Given the description of an element on the screen output the (x, y) to click on. 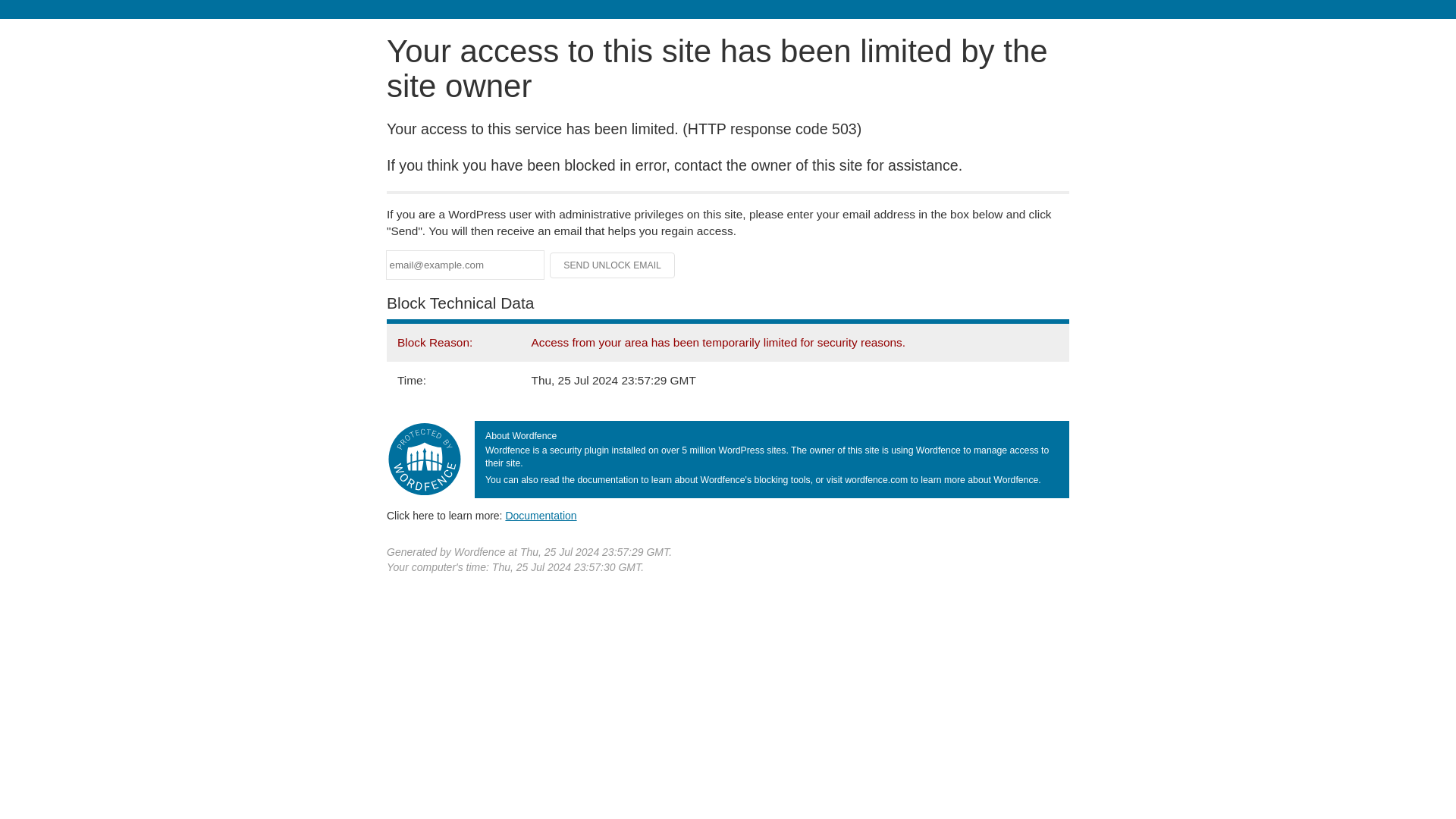
Send Unlock Email (612, 265)
Documentation (540, 515)
Send Unlock Email (612, 265)
